Given the description of an element on the screen output the (x, y) to click on. 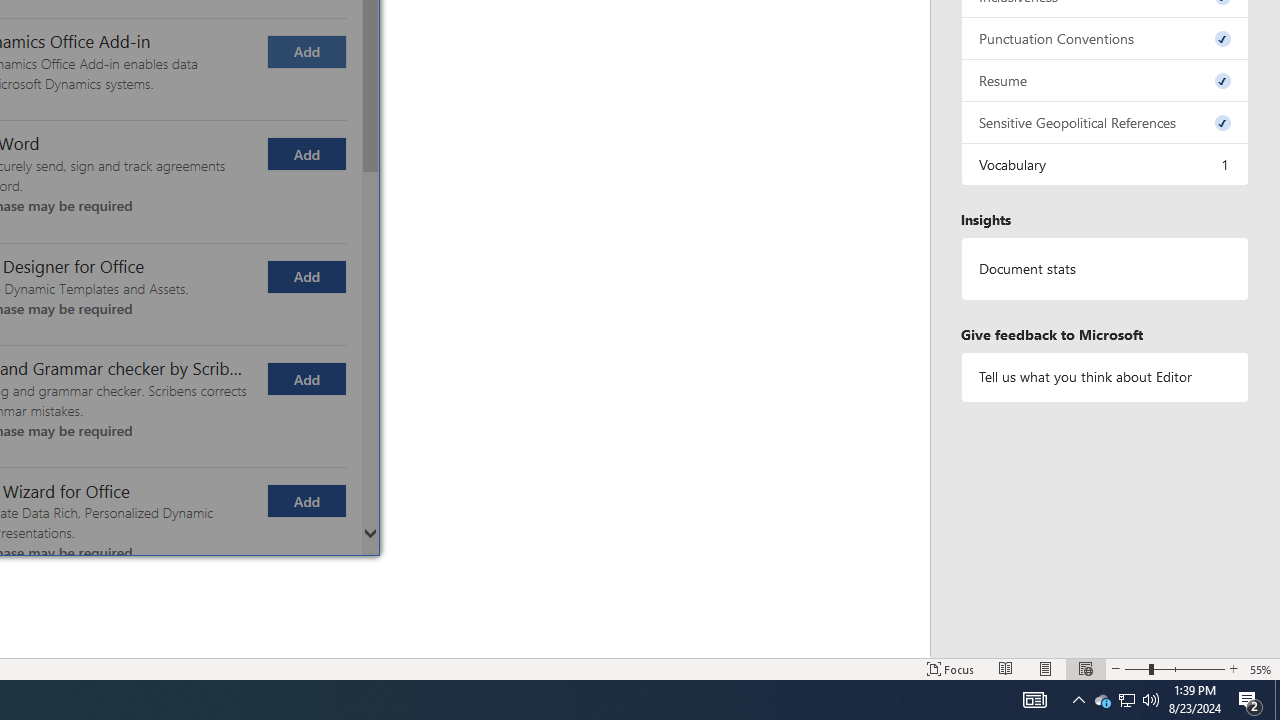
Document statistics (1105, 269)
Resume, 0 issues. Press space or enter to review items. (1105, 79)
Zoom 55% (1261, 668)
